Given the description of an element on the screen output the (x, y) to click on. 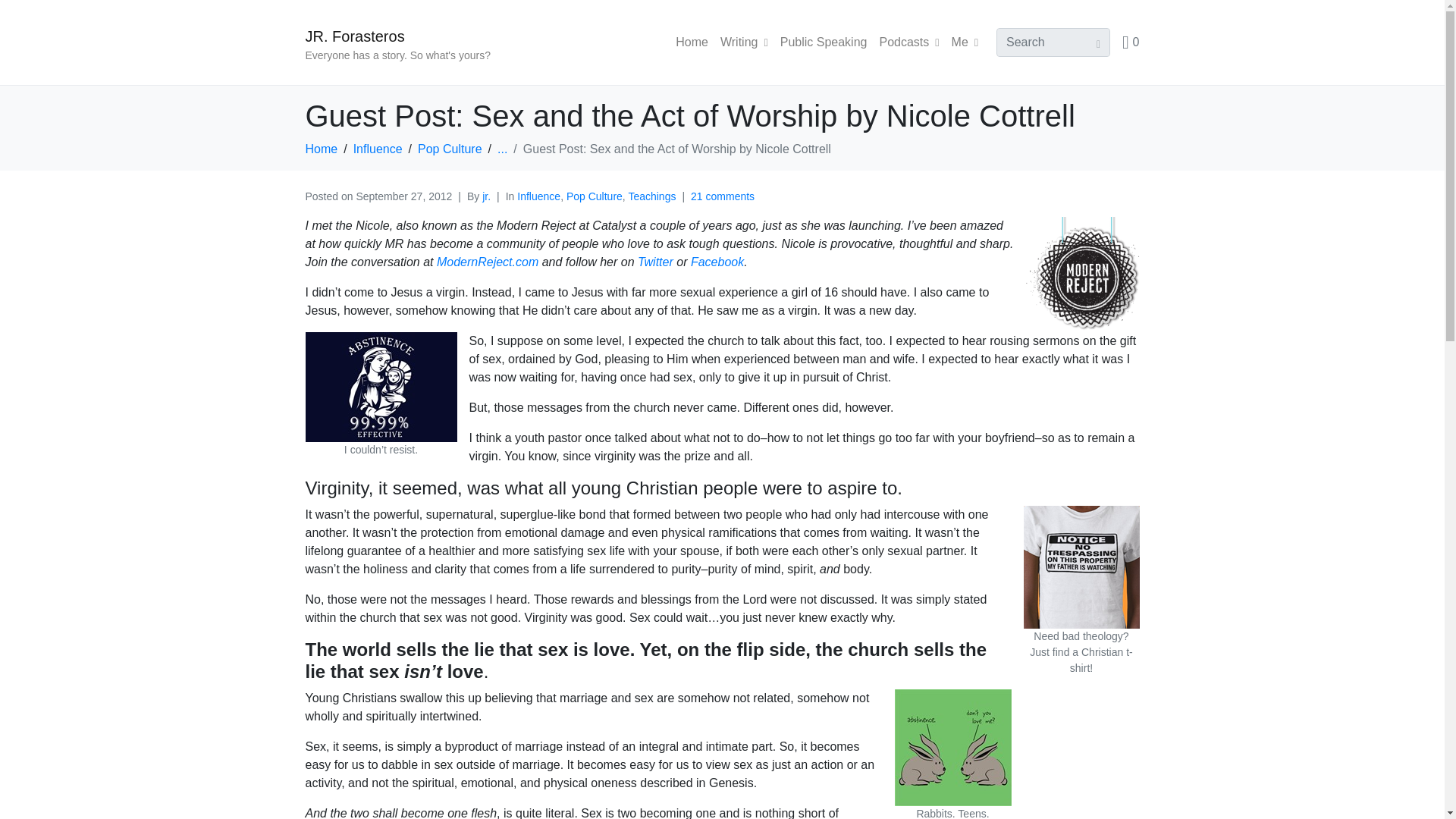
Modern Reject (1081, 273)
Public Speaking (823, 42)
Like Modern Reject! All the cool kids are! (717, 261)
Podcasts (908, 42)
0 (1130, 42)
Me (964, 42)
Abstinence T-Shirt (1081, 567)
Home (320, 148)
JR. Forasteros (354, 36)
Influence (538, 196)
21 comments (722, 196)
Home (691, 42)
Abstinence T-shirt (380, 387)
ModernReject.com (487, 261)
Pop Culture (449, 148)
